Given the description of an element on the screen output the (x, y) to click on. 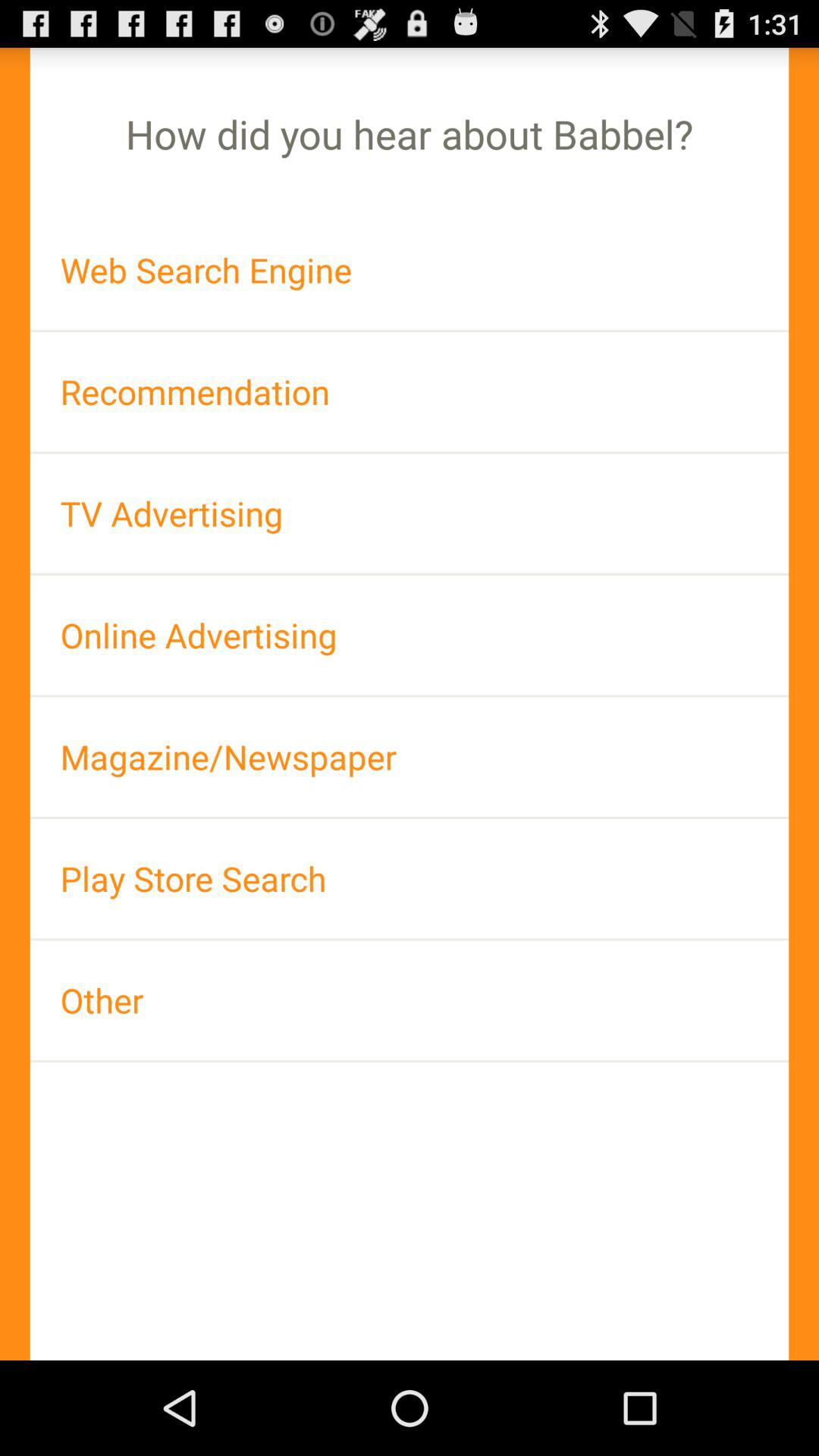
click the app below the web search engine item (409, 391)
